Given the description of an element on the screen output the (x, y) to click on. 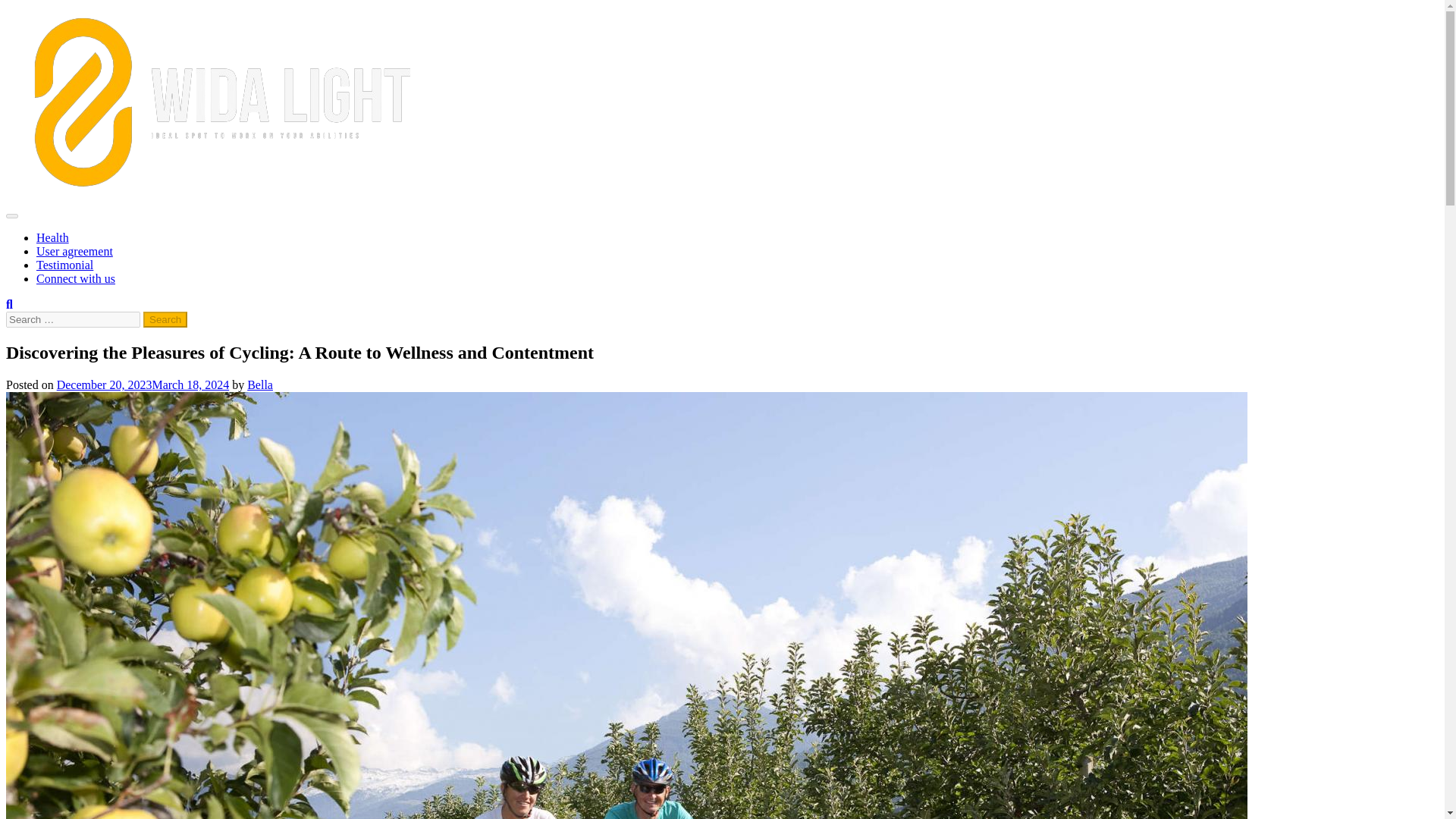
Connect with us (75, 278)
Testimonial (64, 264)
Bella (260, 384)
December 20, 2023March 18, 2024 (143, 384)
Health (52, 237)
Search (164, 319)
Search (164, 319)
Search (164, 319)
User agreement (74, 250)
